Given the description of an element on the screen output the (x, y) to click on. 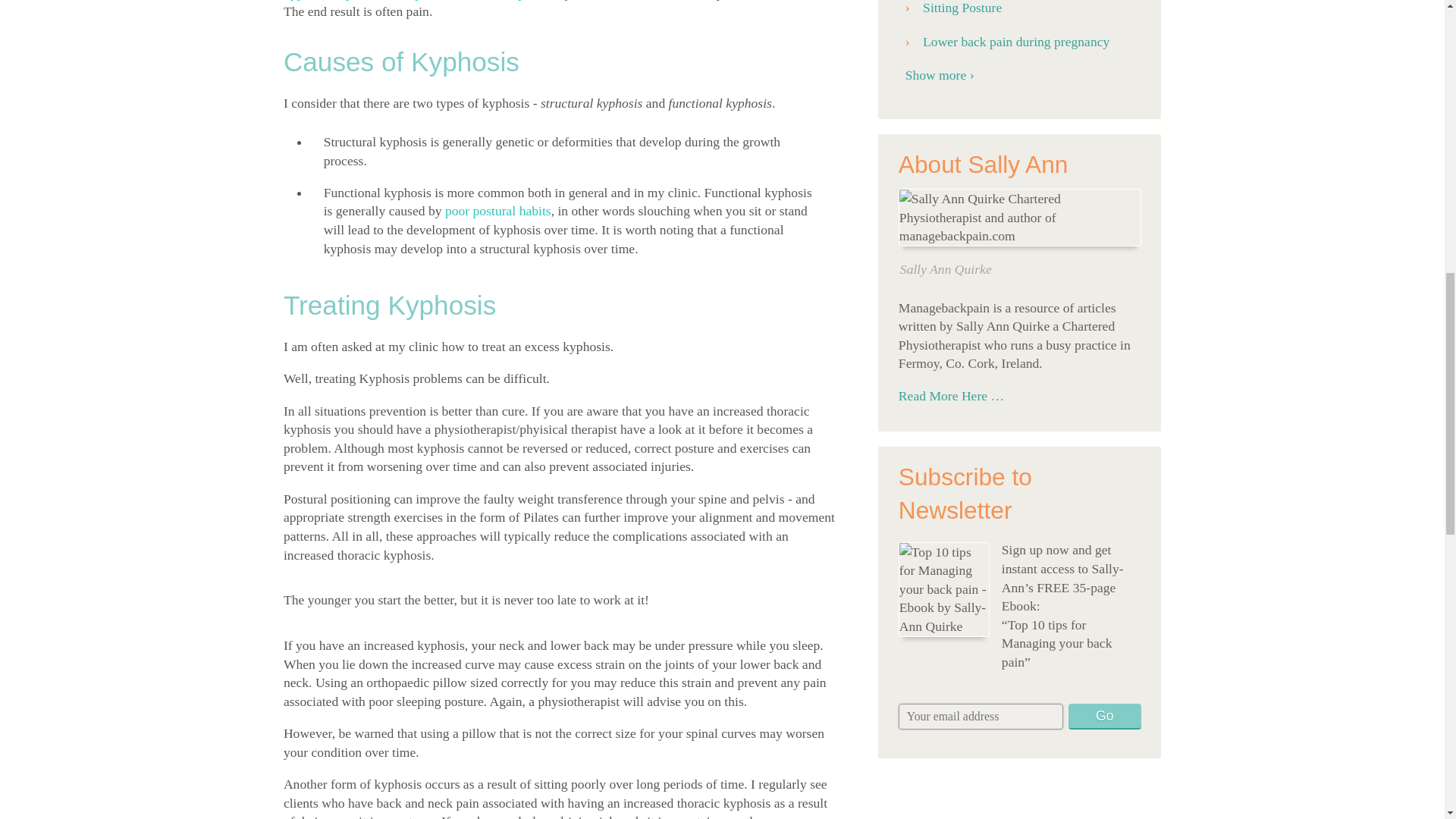
Possible causes of neck pain (412, 0)
Article on Posture Correction (498, 210)
